Given the description of an element on the screen output the (x, y) to click on. 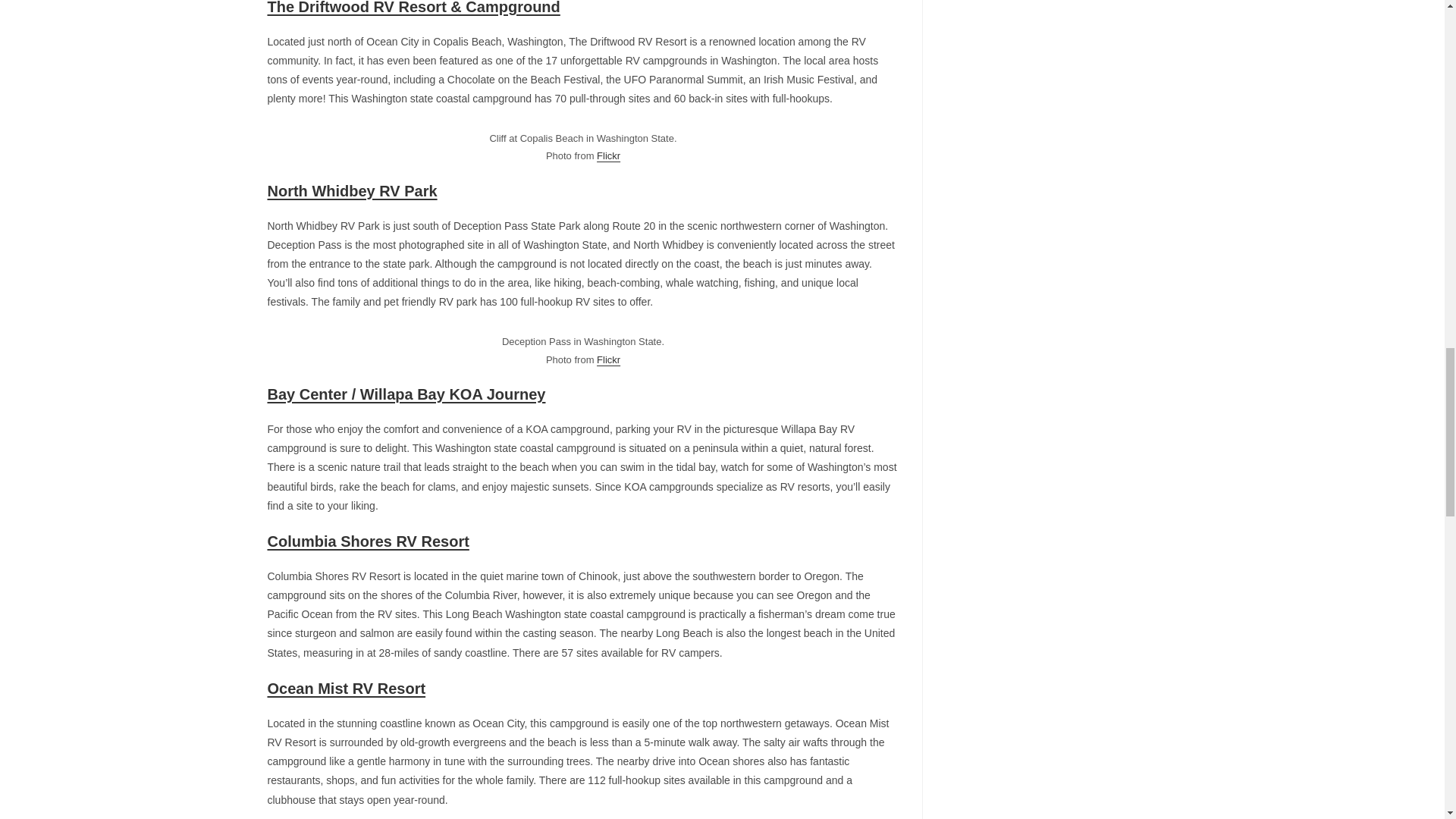
Ocean Mist RV Resort (345, 688)
Flickr (608, 359)
Flickr (608, 155)
North Whidbey RV Park (351, 190)
Columbia Shores RV Resort (367, 541)
